Given the description of an element on the screen output the (x, y) to click on. 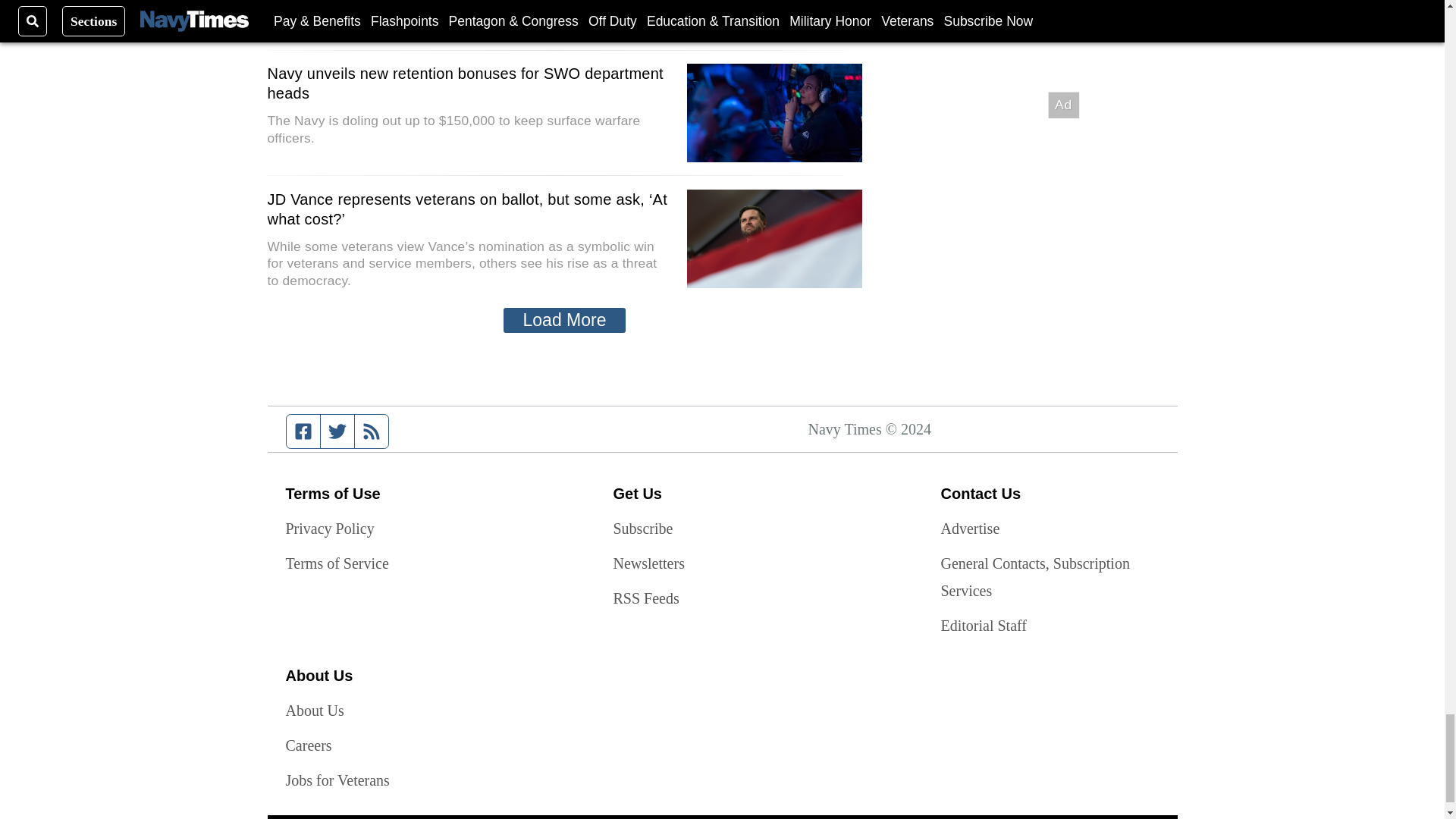
Twitter feed (336, 430)
Facebook page (303, 430)
RSS feed (371, 430)
